Given the description of an element on the screen output the (x, y) to click on. 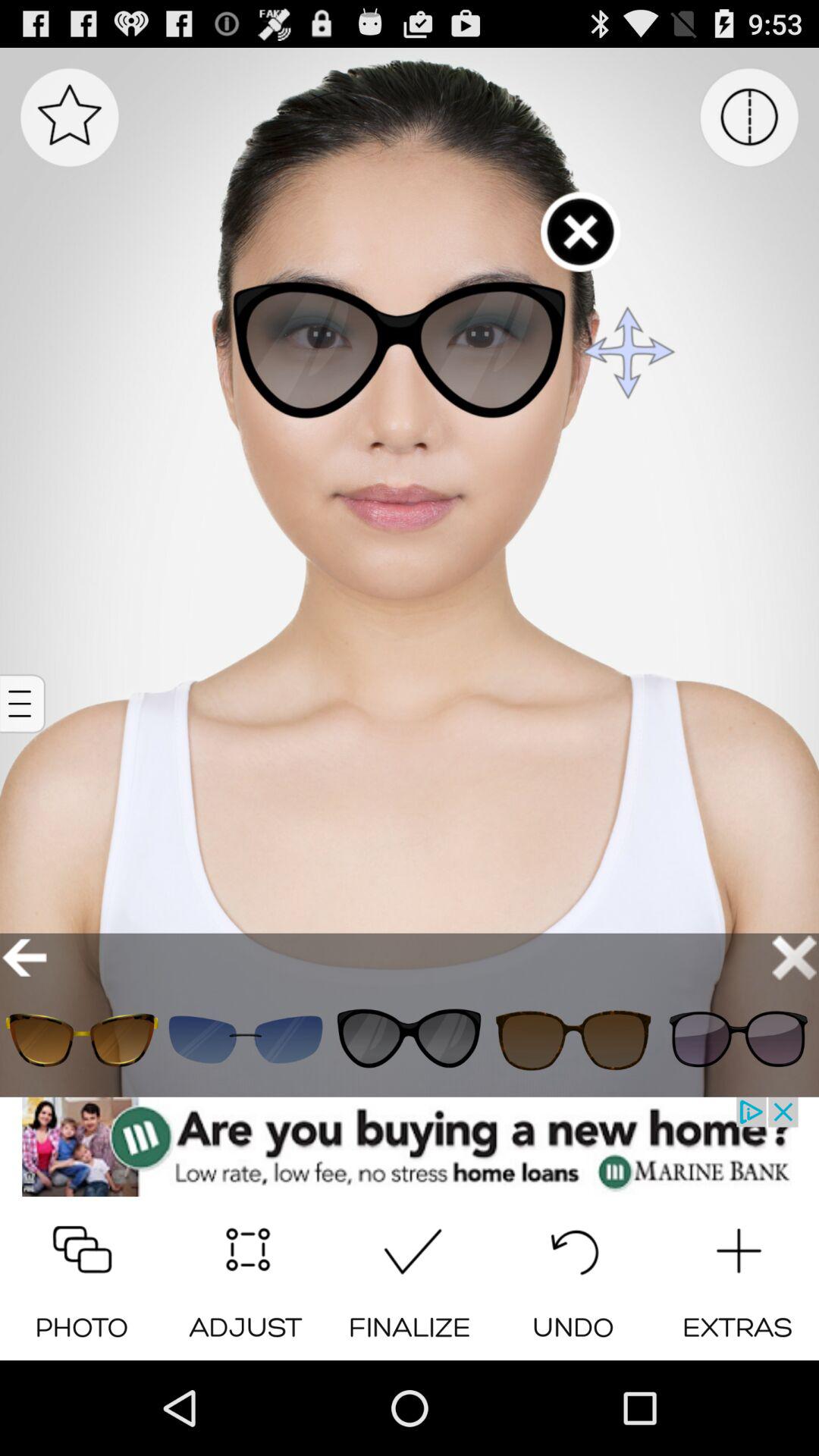
star this item (69, 117)
